Given the description of an element on the screen output the (x, y) to click on. 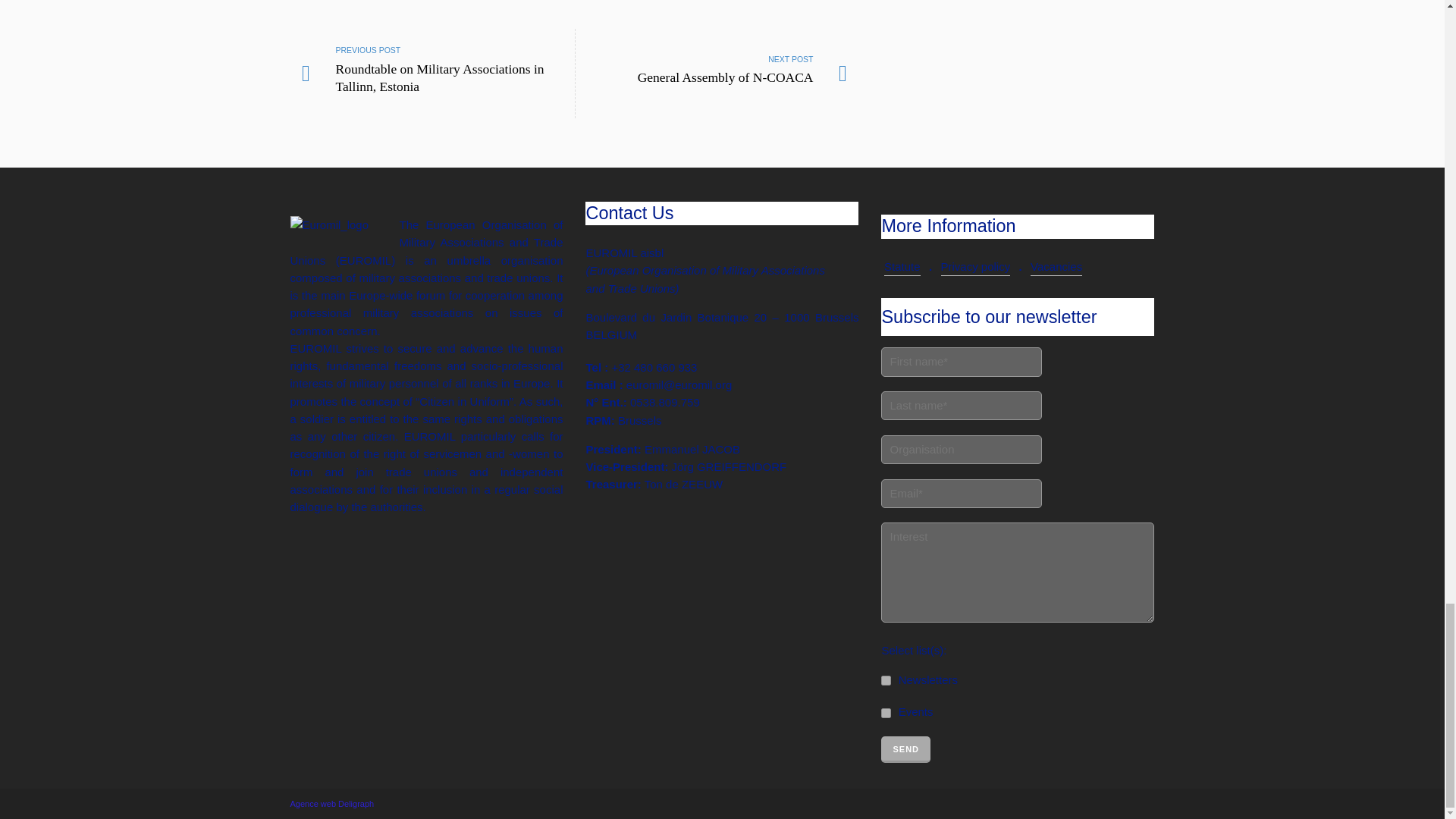
14 (885, 680)
Send (905, 749)
Privacy policy (975, 268)
Agence web Deligraph (331, 803)
Organisation (717, 72)
Statute (961, 449)
13 (901, 268)
